Given the description of an element on the screen output the (x, y) to click on. 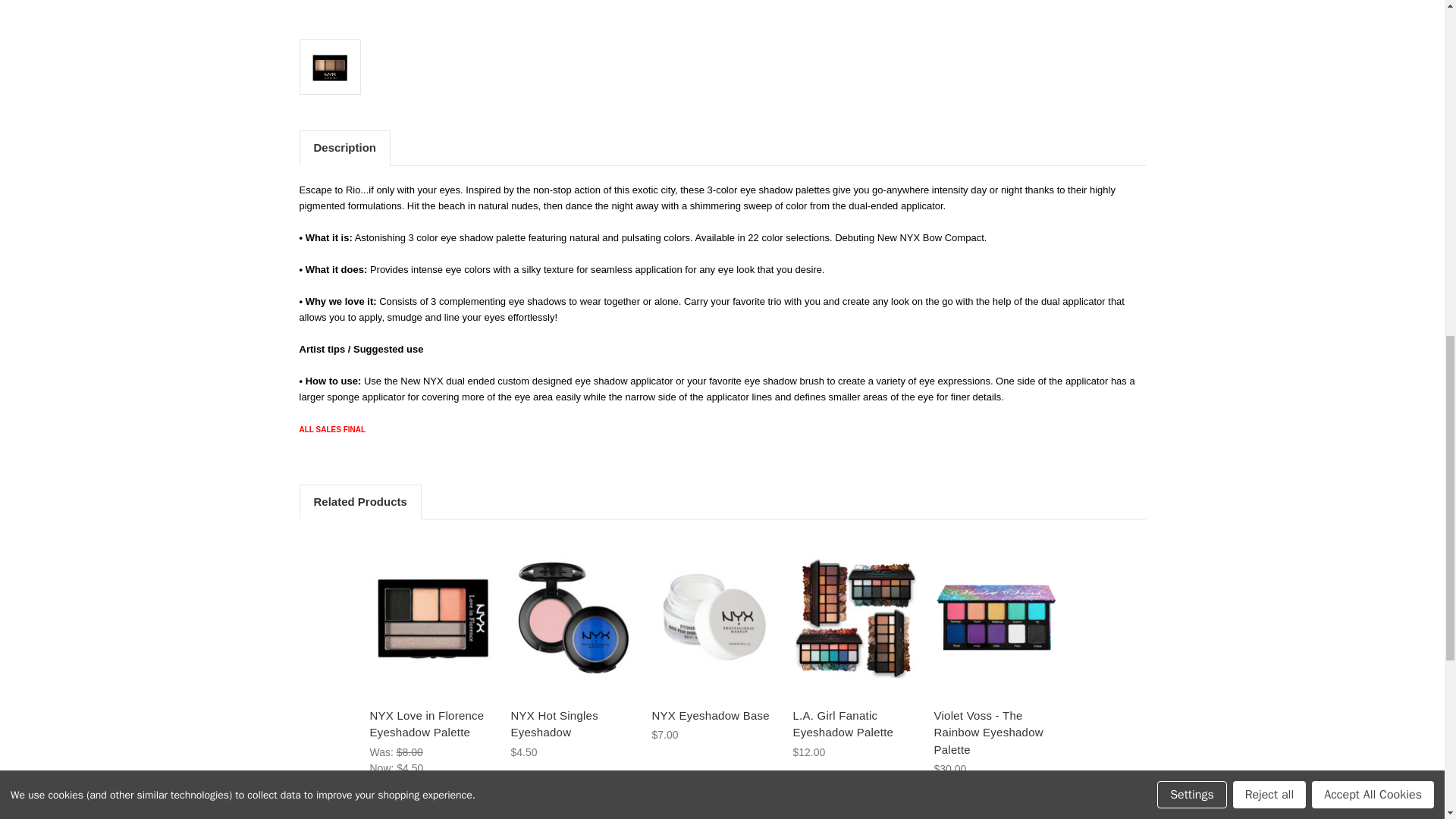
L.A. Girl Fanatic Eyeshadow Palette (854, 617)
NYX Hot Singles Eyeshadow HS image picture swatch (572, 617)
NYX Love in Florence Eyeshadow Palette (431, 617)
NYX Eyeshadow Base (713, 617)
NYX Love In Rio Eyeshadow Palette (504, 13)
